Given the description of an element on the screen output the (x, y) to click on. 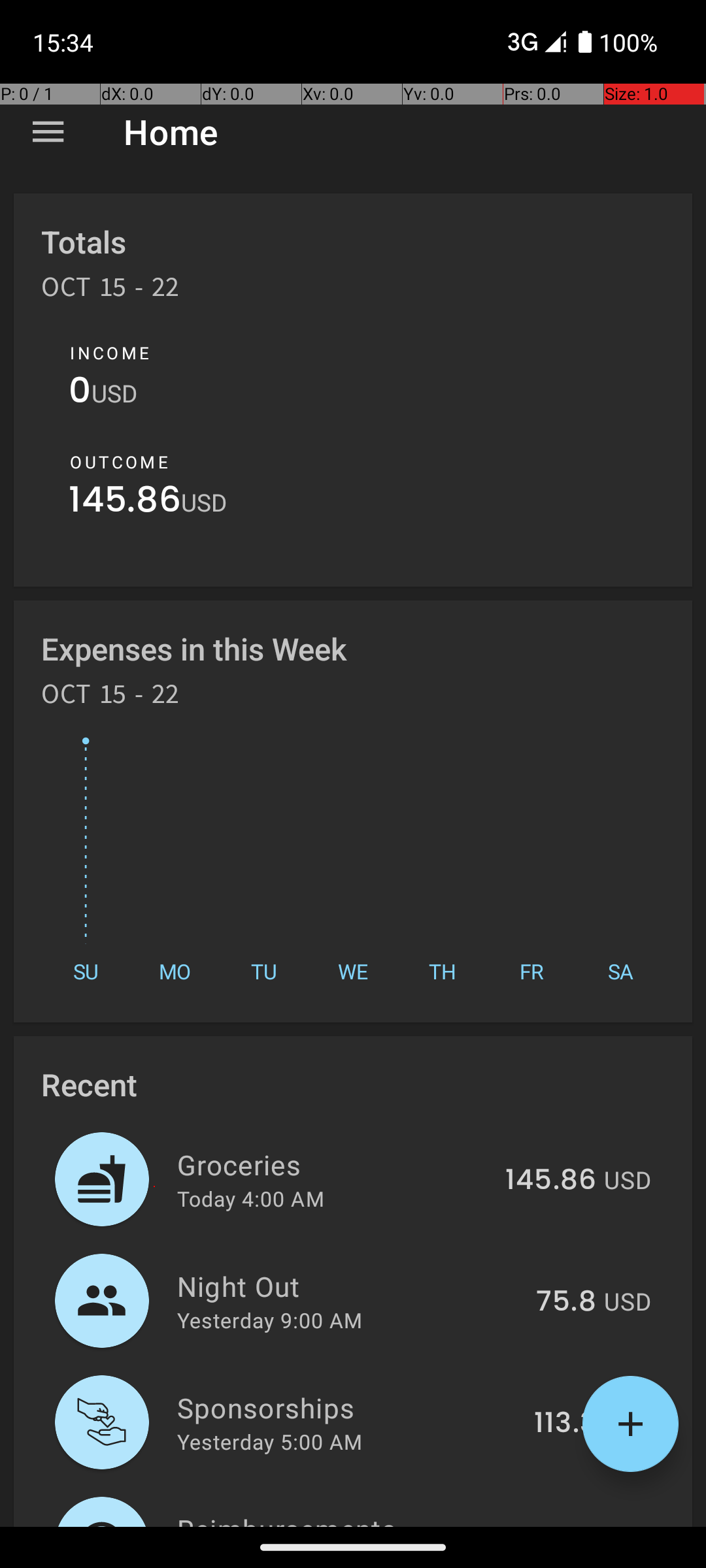
Totals Element type: android.widget.TextView (83, 240)
OCT 15 - 22 Element type: android.widget.TextView (110, 291)
INCOME Element type: android.widget.TextView (109, 352)
USD Element type: android.widget.TextView (114, 392)
OUTCOME Element type: android.widget.TextView (118, 461)
145.86 Element type: android.widget.TextView (124, 502)
Expenses in this Week Element type: android.widget.TextView (194, 648)
Recent Element type: android.widget.TextView (89, 1083)
Groceries Element type: android.widget.TextView (333, 1164)
Today 4:00 AM Element type: android.widget.TextView (250, 1198)
Night Out Element type: android.widget.TextView (348, 1285)
Yesterday 9:00 AM Element type: android.widget.TextView (269, 1320)
75.8 Element type: android.widget.TextView (565, 1301)
Sponsorships Element type: android.widget.TextView (347, 1407)
Yesterday 5:00 AM Element type: android.widget.TextView (269, 1441)
113.3 Element type: android.widget.TextView (564, 1423)
Reimbursements Element type: android.widget.TextView (331, 1518)
386.97 Element type: android.widget.TextView (548, 1524)
